Given the description of an element on the screen output the (x, y) to click on. 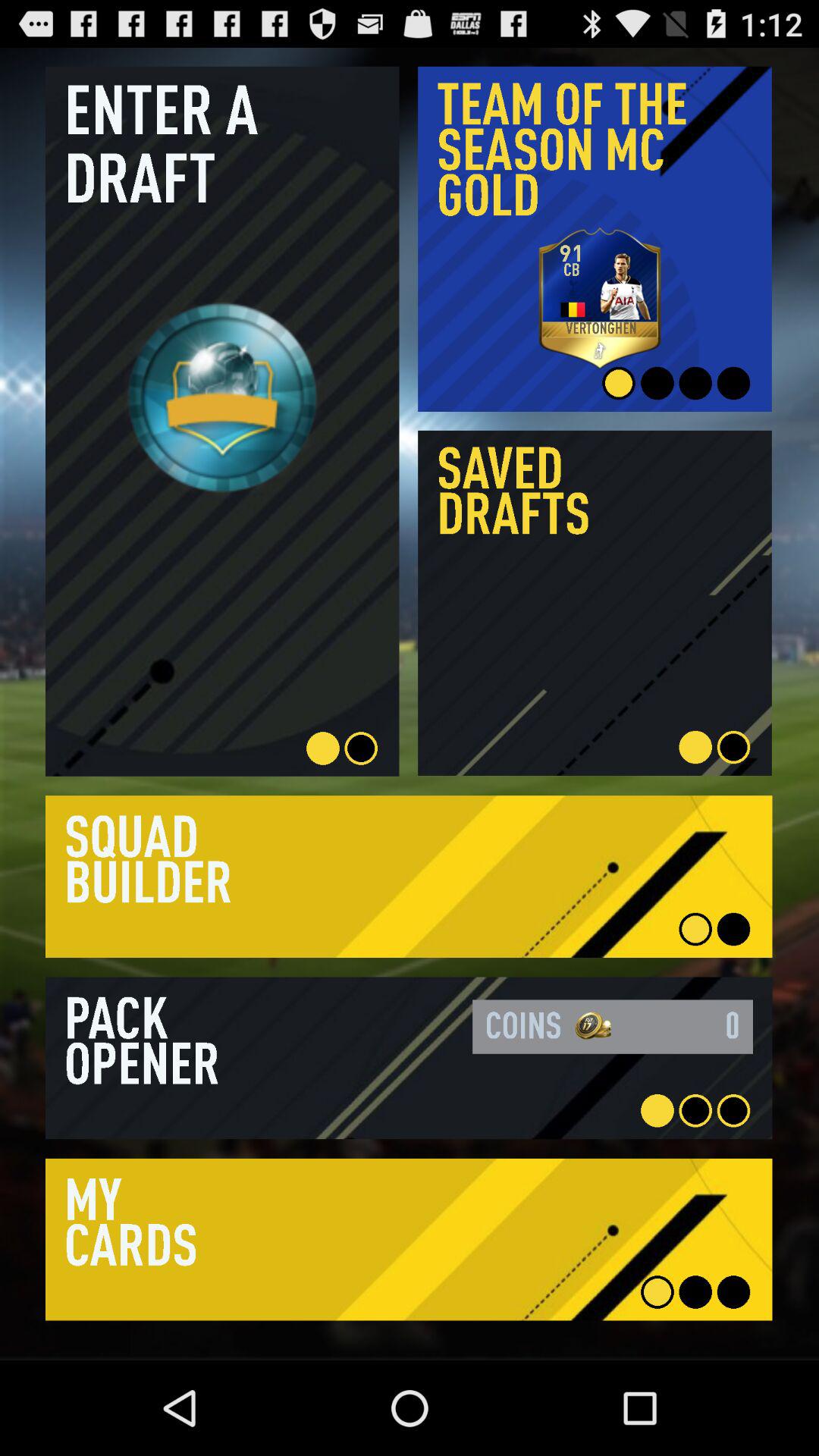
go to my cards (408, 1239)
